Given the description of an element on the screen output the (x, y) to click on. 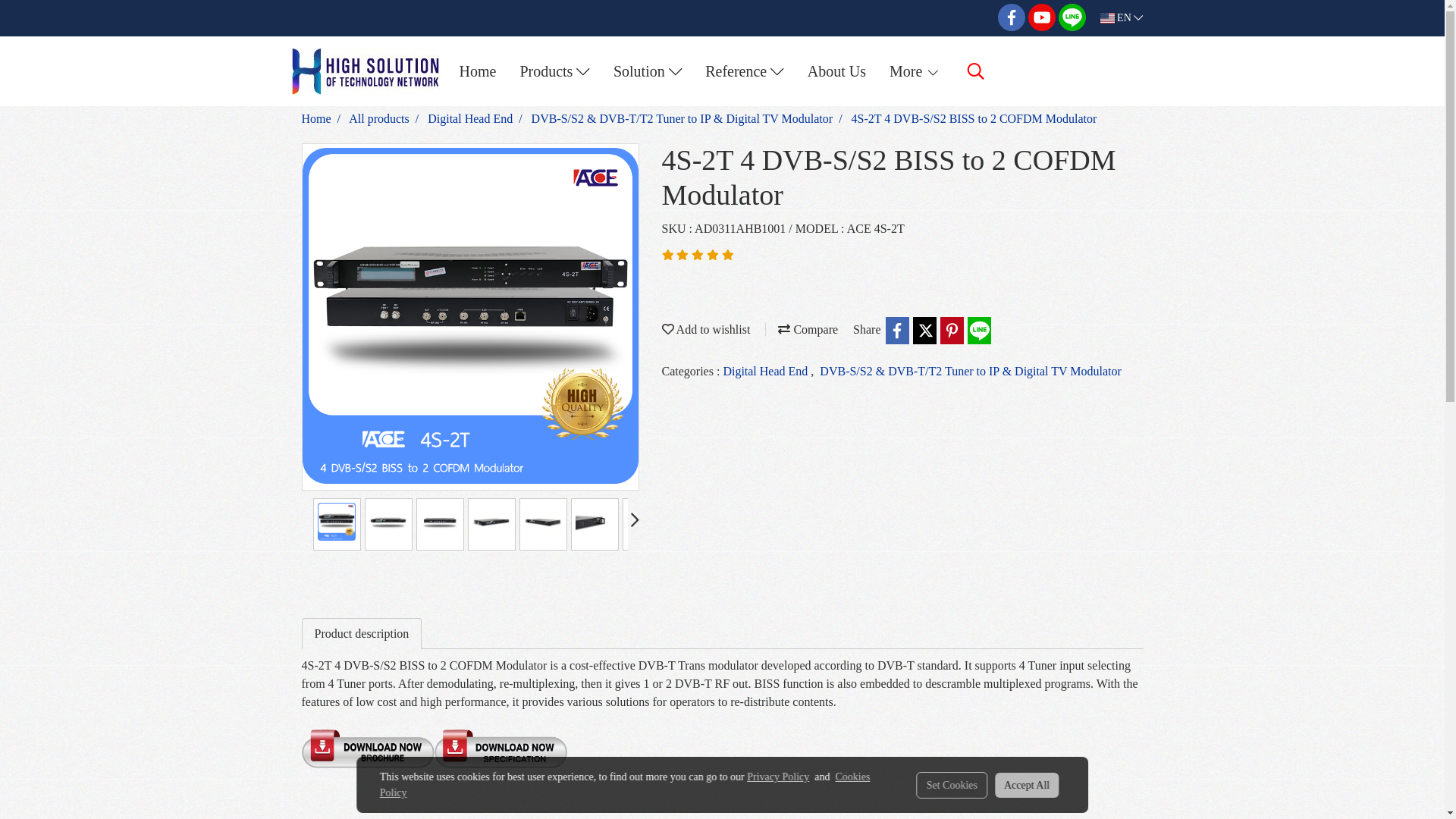
Click to Digital Head End (470, 118)
logo (364, 71)
Product description (361, 633)
EN (1122, 18)
Products (554, 71)
Click to Home (316, 118)
Home (476, 71)
Click to All products (379, 118)
